Given the description of an element on the screen output the (x, y) to click on. 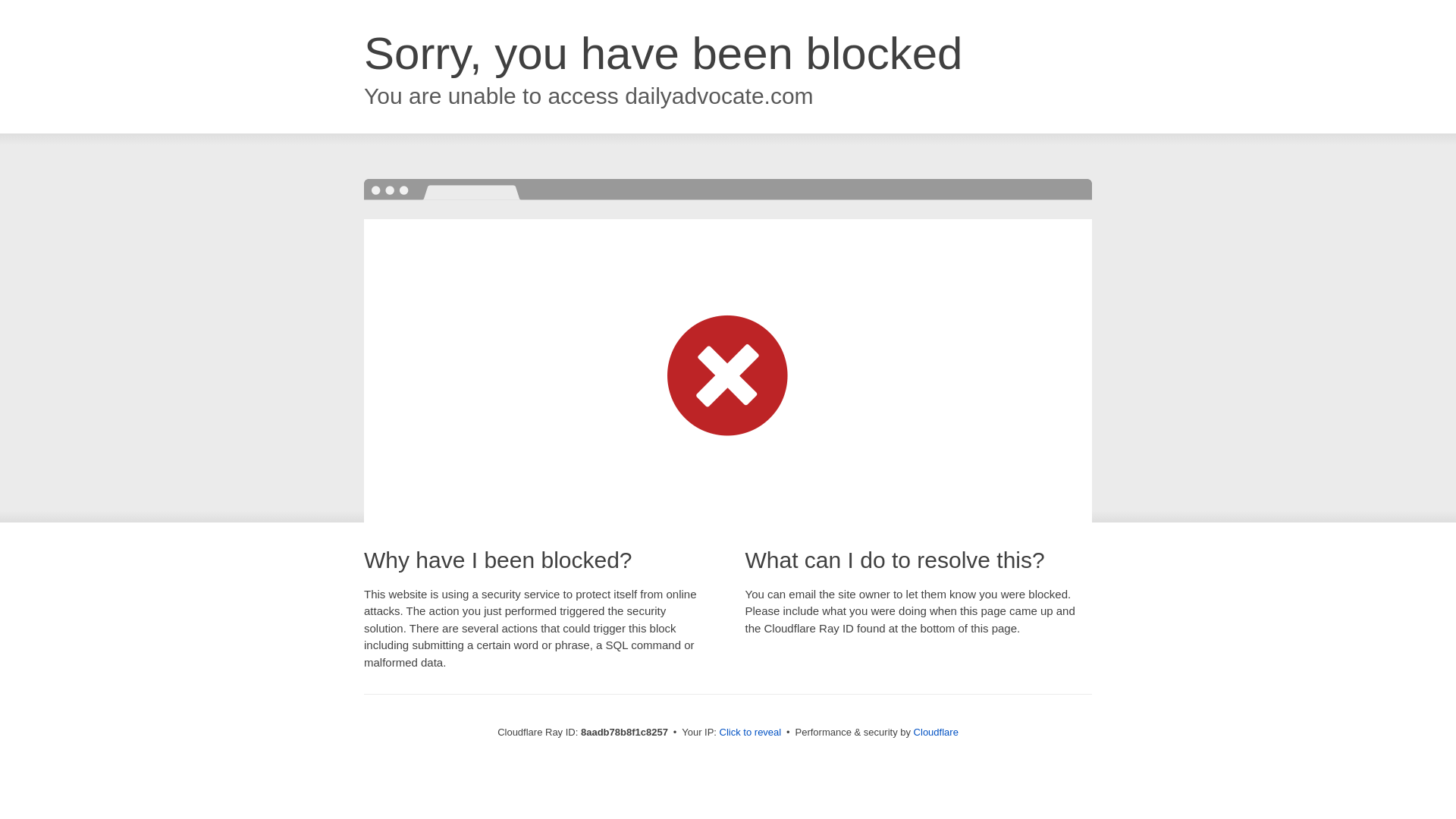
Click to reveal (750, 732)
Cloudflare (936, 731)
